Given the description of an element on the screen output the (x, y) to click on. 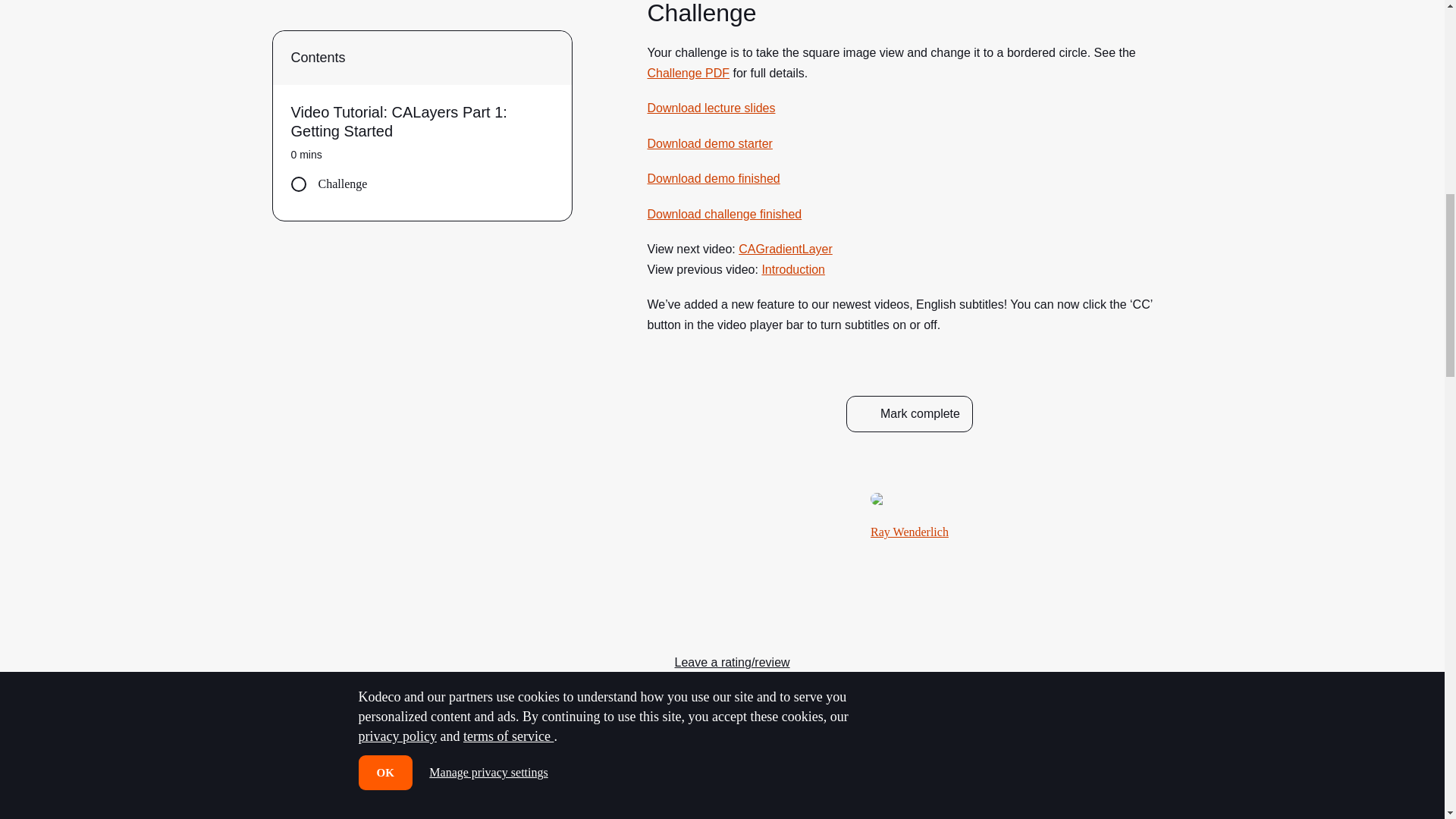
Challenge (422, 2)
Challenge (422, 2)
